Given the description of an element on the screen output the (x, y) to click on. 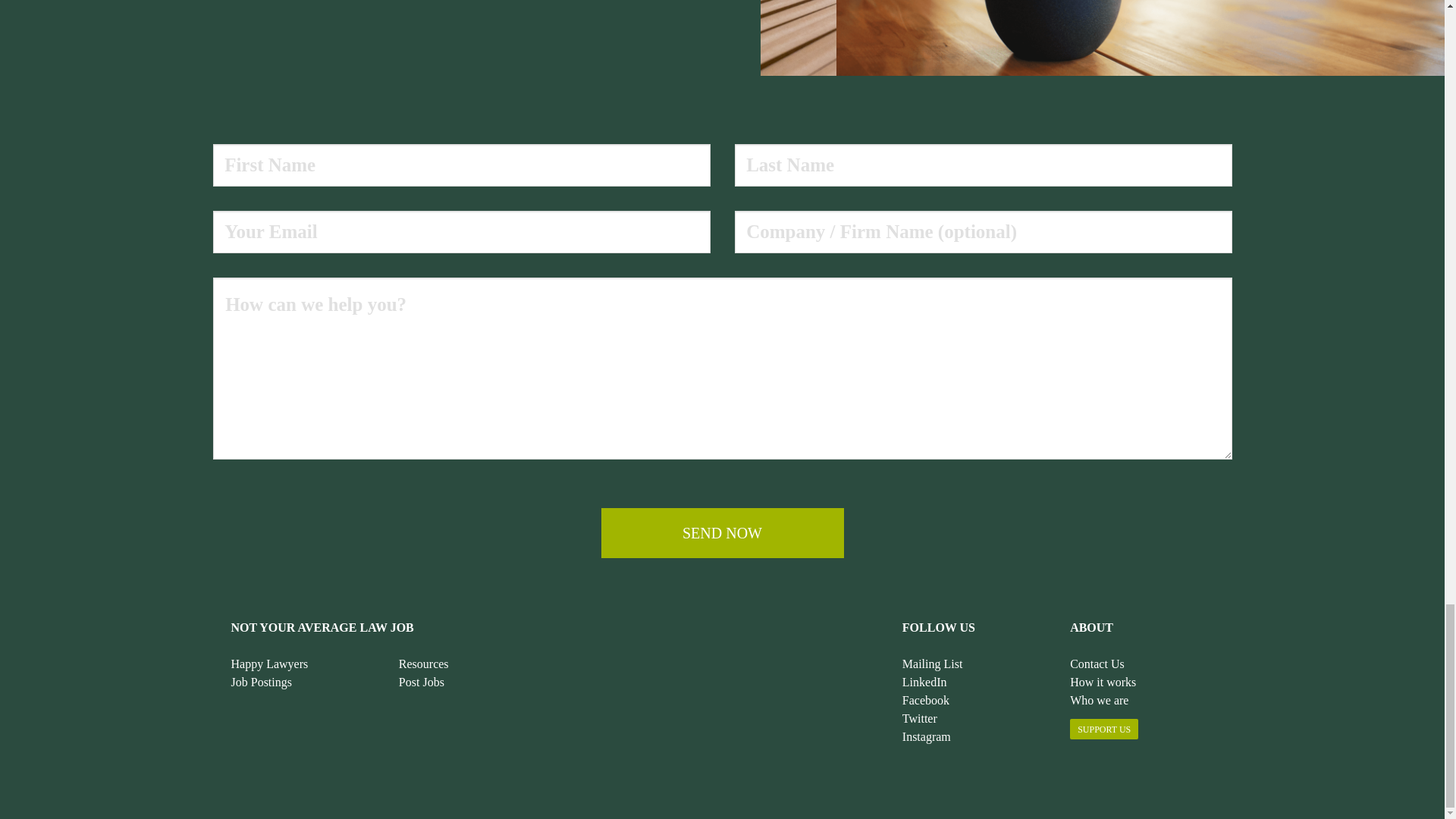
Job Postings (260, 681)
How it works (1102, 681)
SEND NOW (721, 532)
Happy Lawyers (268, 663)
Mailing List (932, 663)
Post Jobs (421, 681)
Resources (423, 663)
SUPPORT US (1104, 729)
Twitter (919, 717)
LinkedIn (924, 681)
Who we are (1099, 699)
Contact Us (1097, 663)
Facebook (925, 699)
Instagram (926, 736)
